Given the description of an element on the screen output the (x, y) to click on. 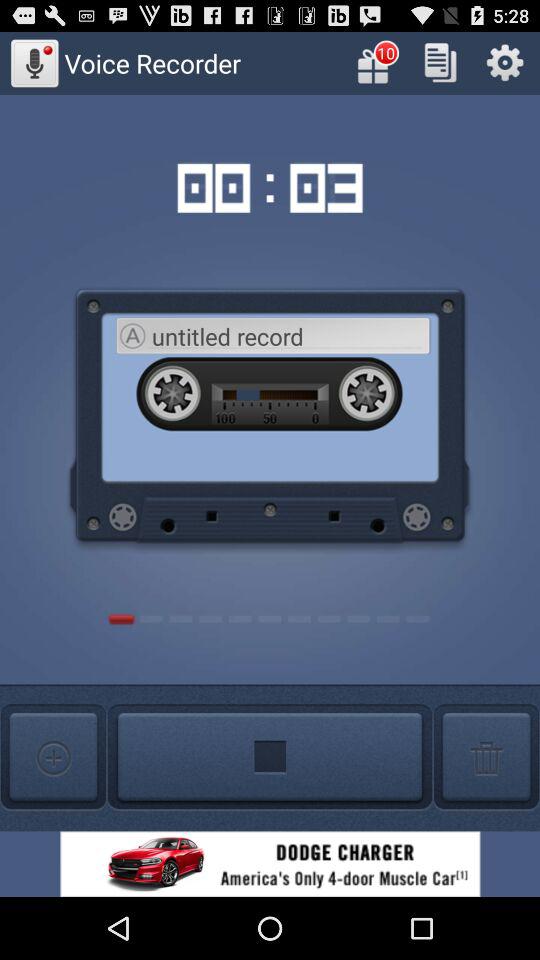
add a voice note (53, 757)
